Given the description of an element on the screen output the (x, y) to click on. 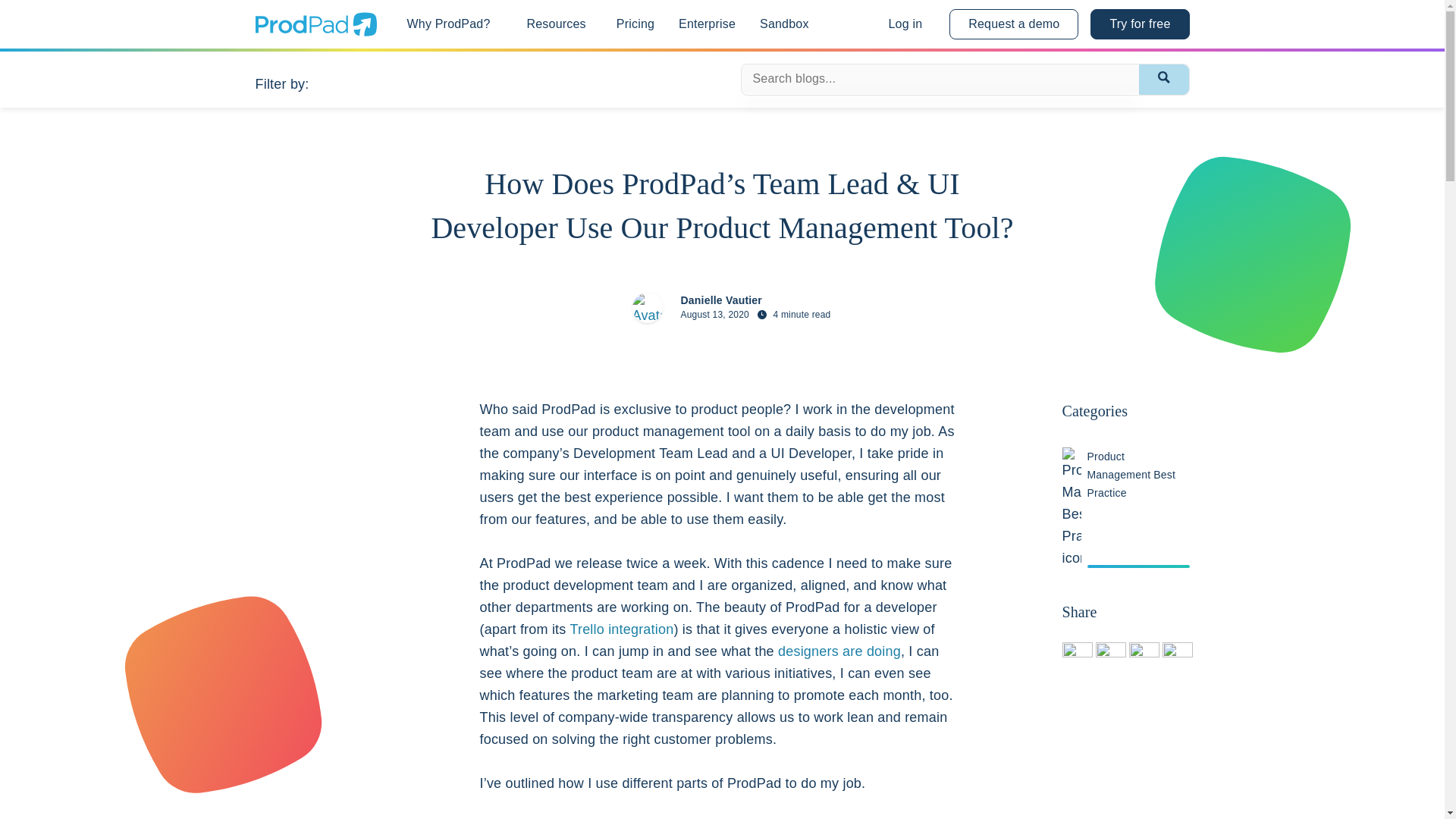
Prodpad (314, 31)
Enterprise (706, 24)
Request a demo (1013, 24)
Skip to main content (68, 12)
Try for free (1139, 24)
Log in (904, 24)
Sandbox (784, 24)
Resources (556, 24)
Category (337, 81)
Why ProdPad? (448, 24)
